Given the description of an element on the screen output the (x, y) to click on. 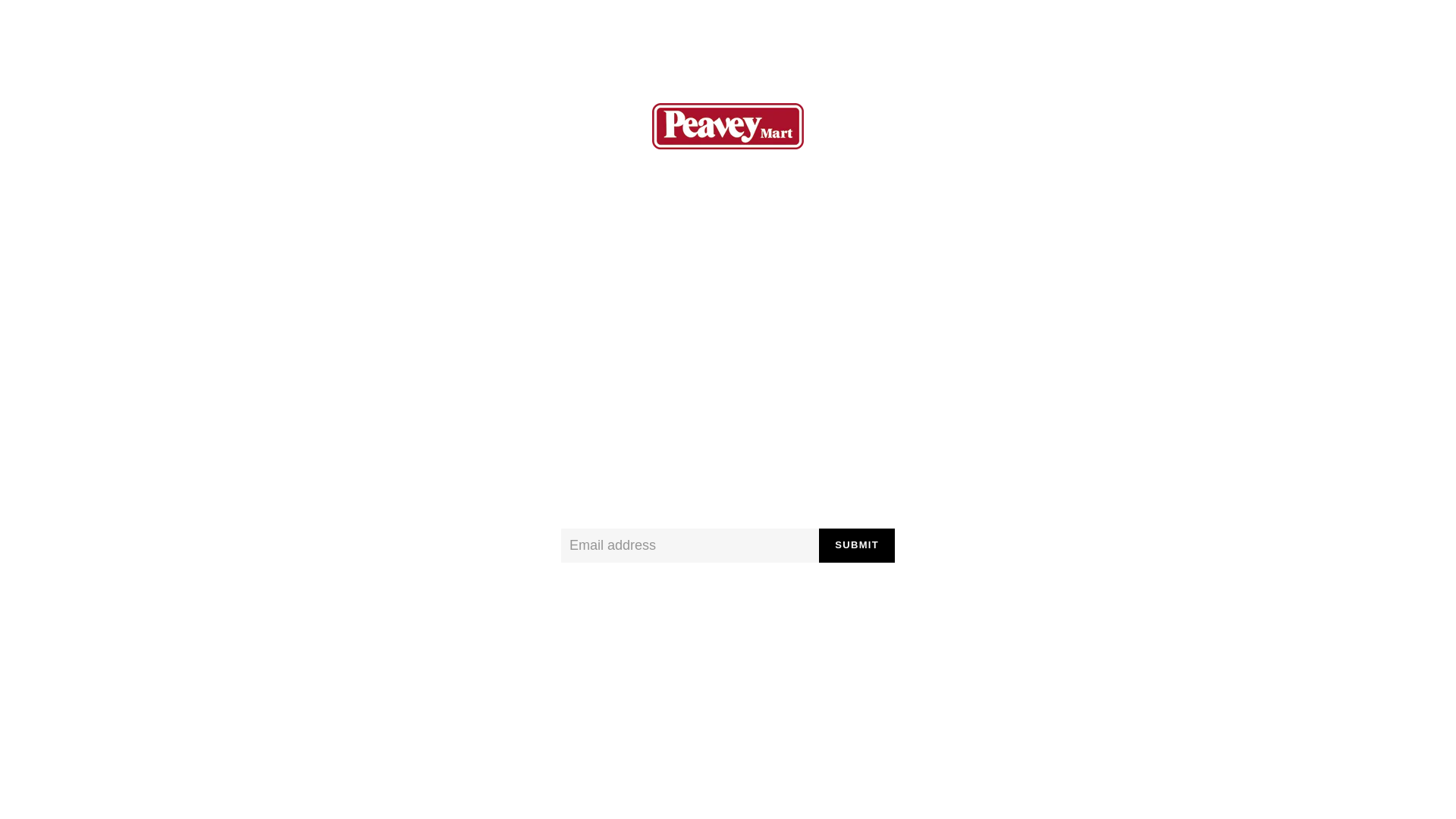
Submit Element type: text (856, 545)
LOCK ICON ENTER USING PASSWORD Element type: text (1348, 29)
Share
Share on Facebook Element type: text (672, 635)
Shopify logo
Shopify Element type: text (807, 786)
Pin it
Pin on Pinterest Element type: text (785, 635)
Tweet
Tweet on Twitter Element type: text (729, 635)
